Given the description of an element on the screen output the (x, y) to click on. 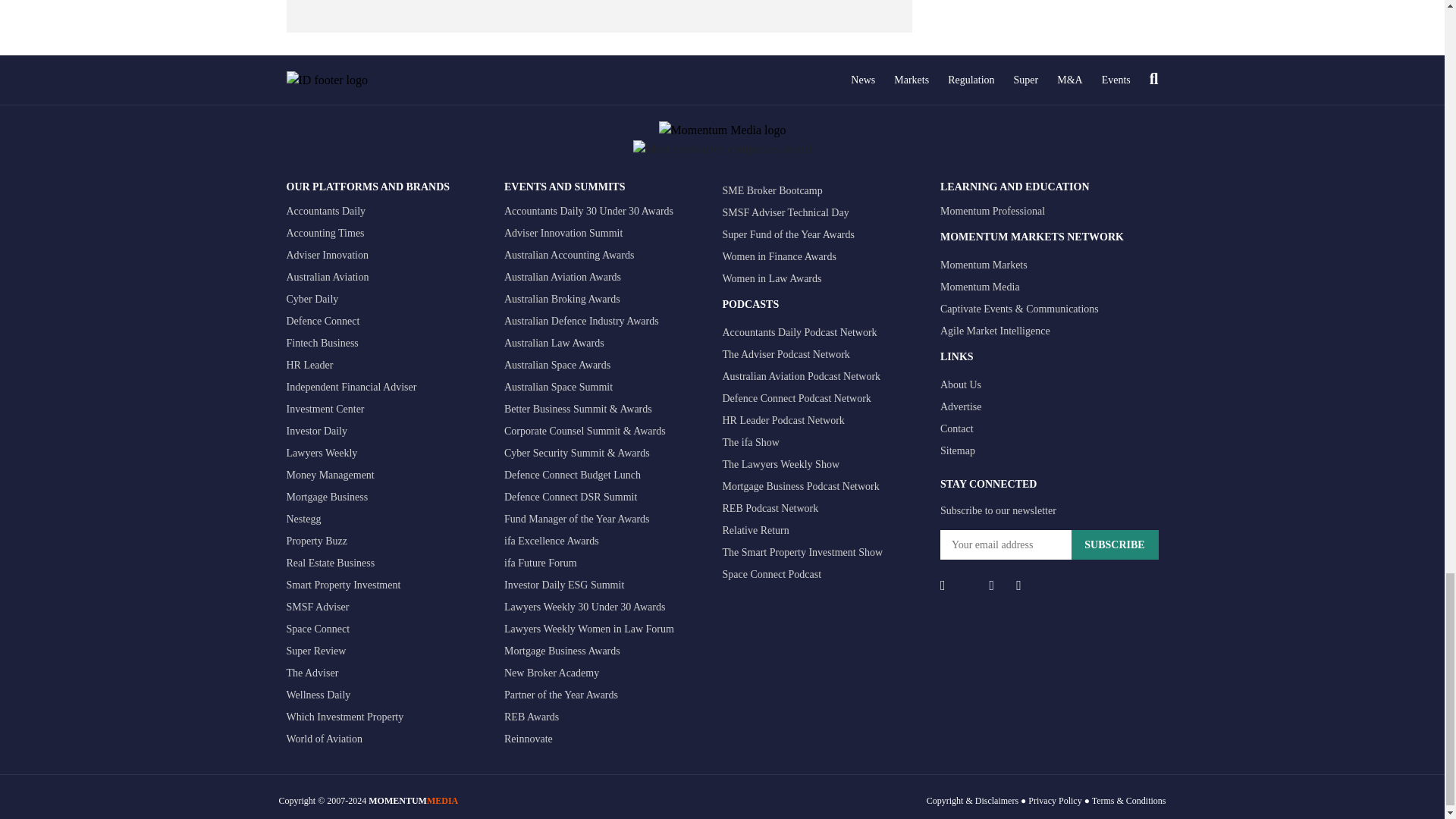
SUBSCRIBE (1113, 544)
